Given the description of an element on the screen output the (x, y) to click on. 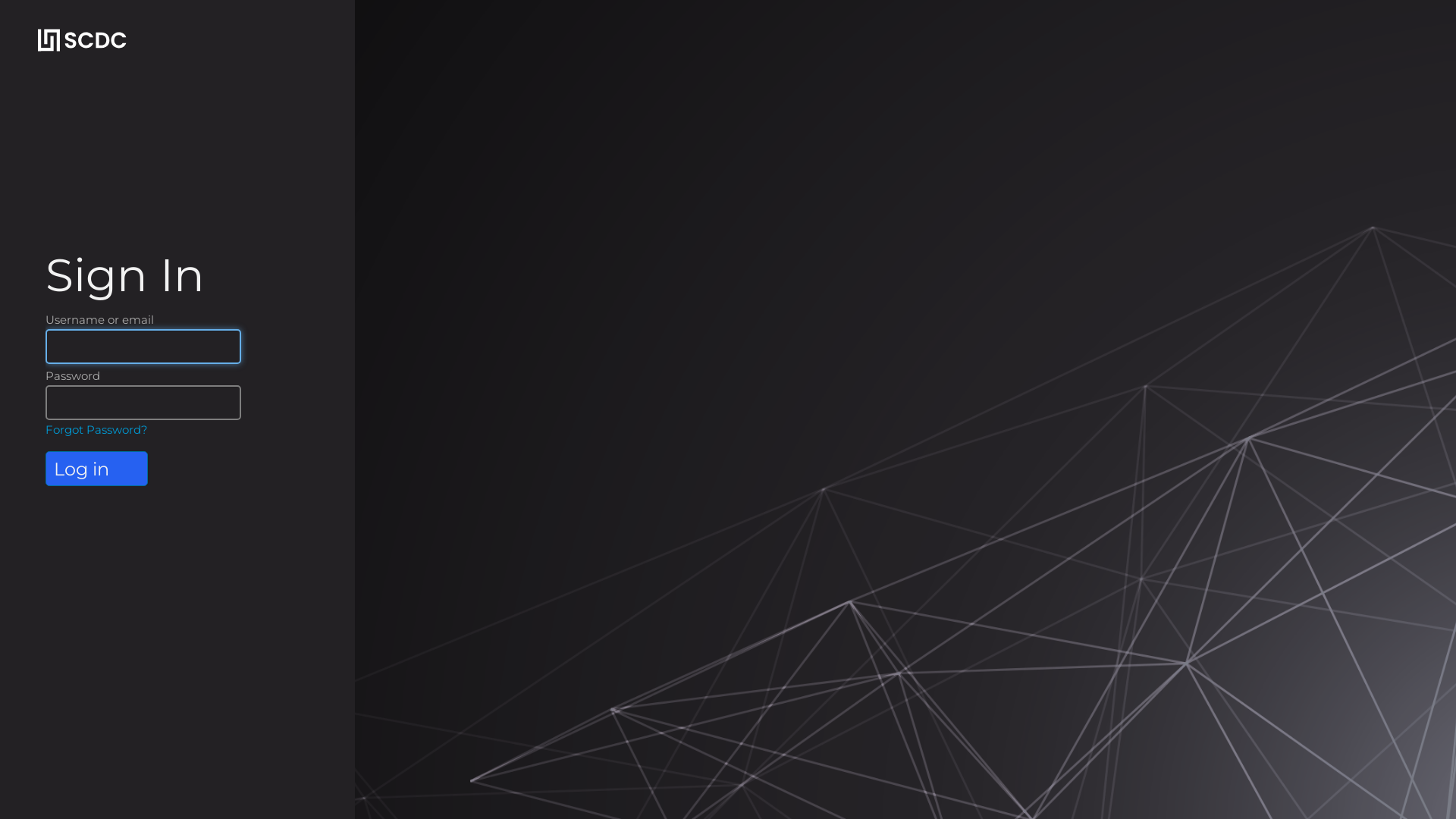
Forgot Password? Element type: text (96, 429)
Log in Element type: text (96, 468)
